Given the description of an element on the screen output the (x, y) to click on. 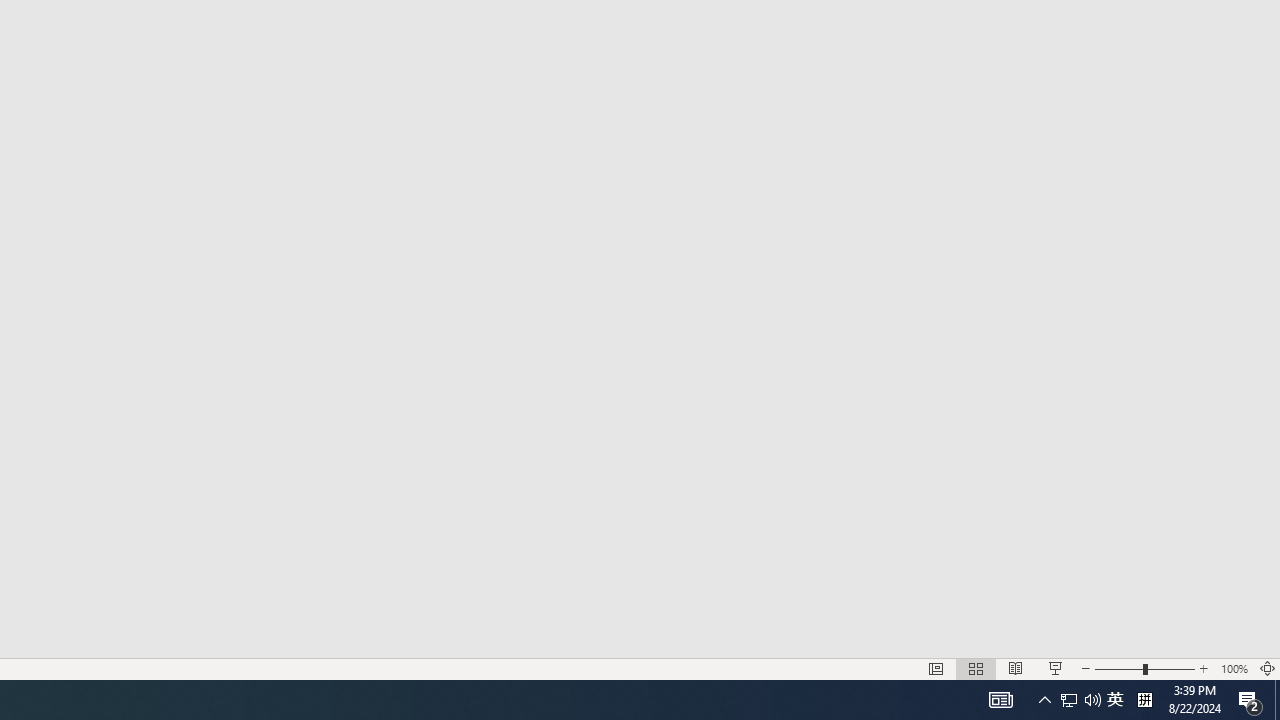
Zoom 100% (1234, 668)
